Given the description of an element on the screen output the (x, y) to click on. 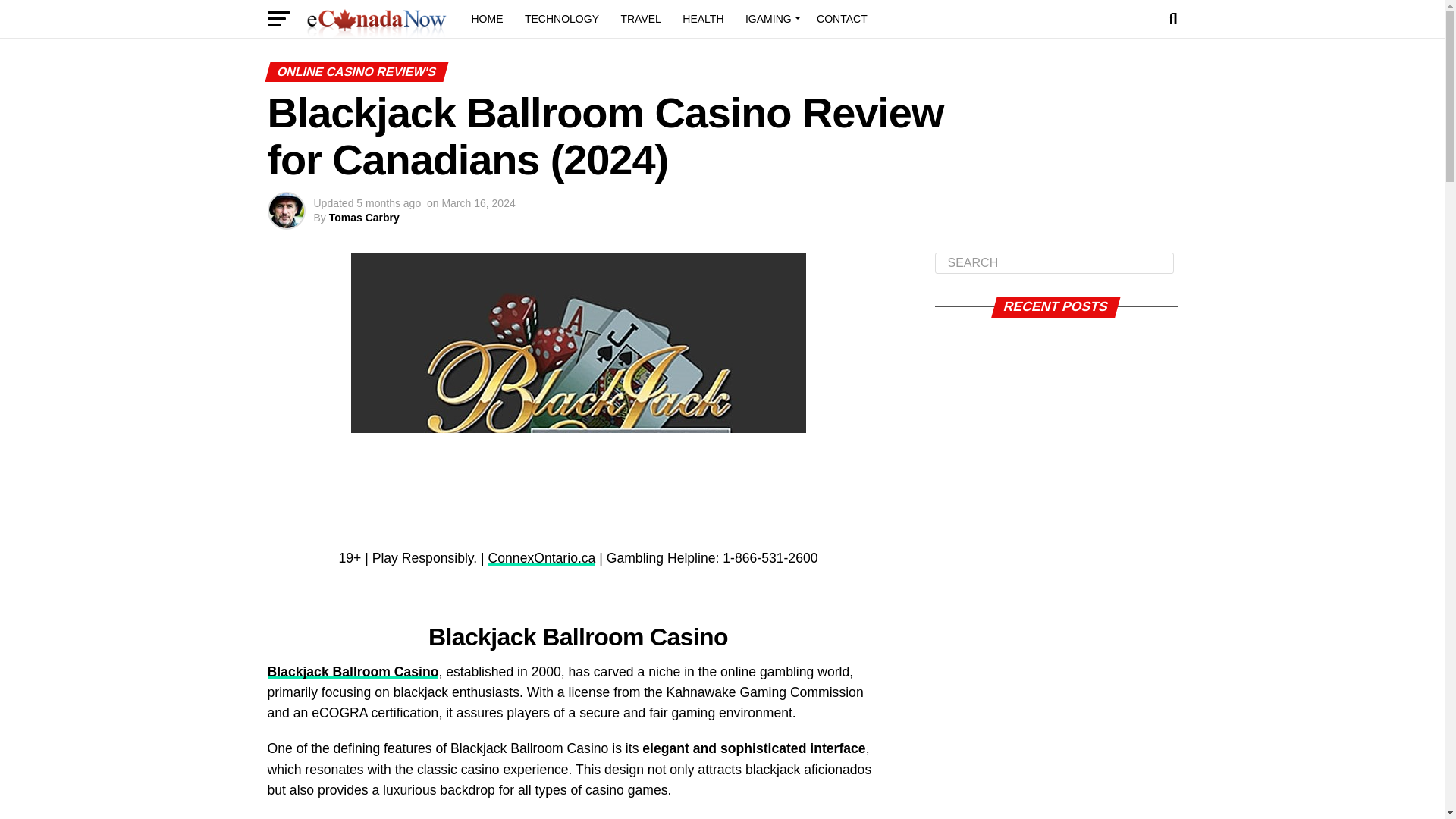
Search (1053, 262)
Posts by Tomas Carbry (363, 217)
TRAVEL (640, 18)
HOME (487, 18)
TECHNOLOGY (561, 18)
HEALTH (702, 18)
IGAMING (770, 18)
